Given the description of an element on the screen output the (x, y) to click on. 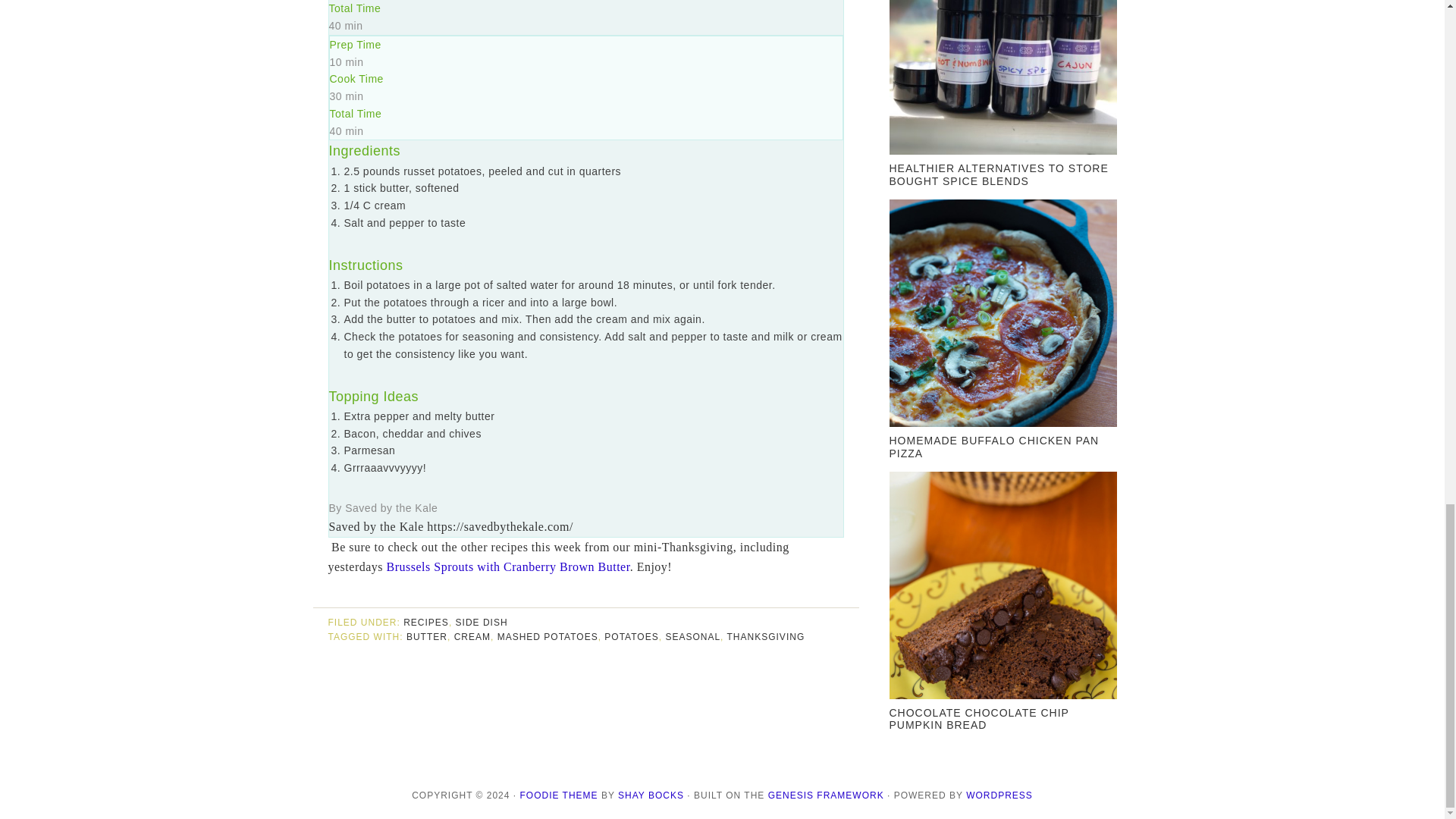
POTATOES (631, 636)
BUTTER (426, 636)
SIDE DISH (481, 622)
CREAM (472, 636)
MASHED POTATOES (547, 636)
Chocolate Chocolate Chip Pumpkin Bread (1002, 588)
Chocolate Chocolate Chip Pumpkin Bread (978, 719)
Brussels Sprouts With Cranberry Brown Butter (508, 566)
Homemade Buffalo Chicken Pan Pizza (993, 446)
Homemade Buffalo Chicken Pan Pizza (1002, 316)
RECIPES (425, 622)
Healthier Alternatives to Store Bought Spice Blends (1002, 81)
Healthier Alternatives to Store Bought Spice Blends (998, 174)
THANKSGIVING (765, 636)
Brussels Sprouts with Cranberry Brown Butter (508, 566)
